Given the description of an element on the screen output the (x, y) to click on. 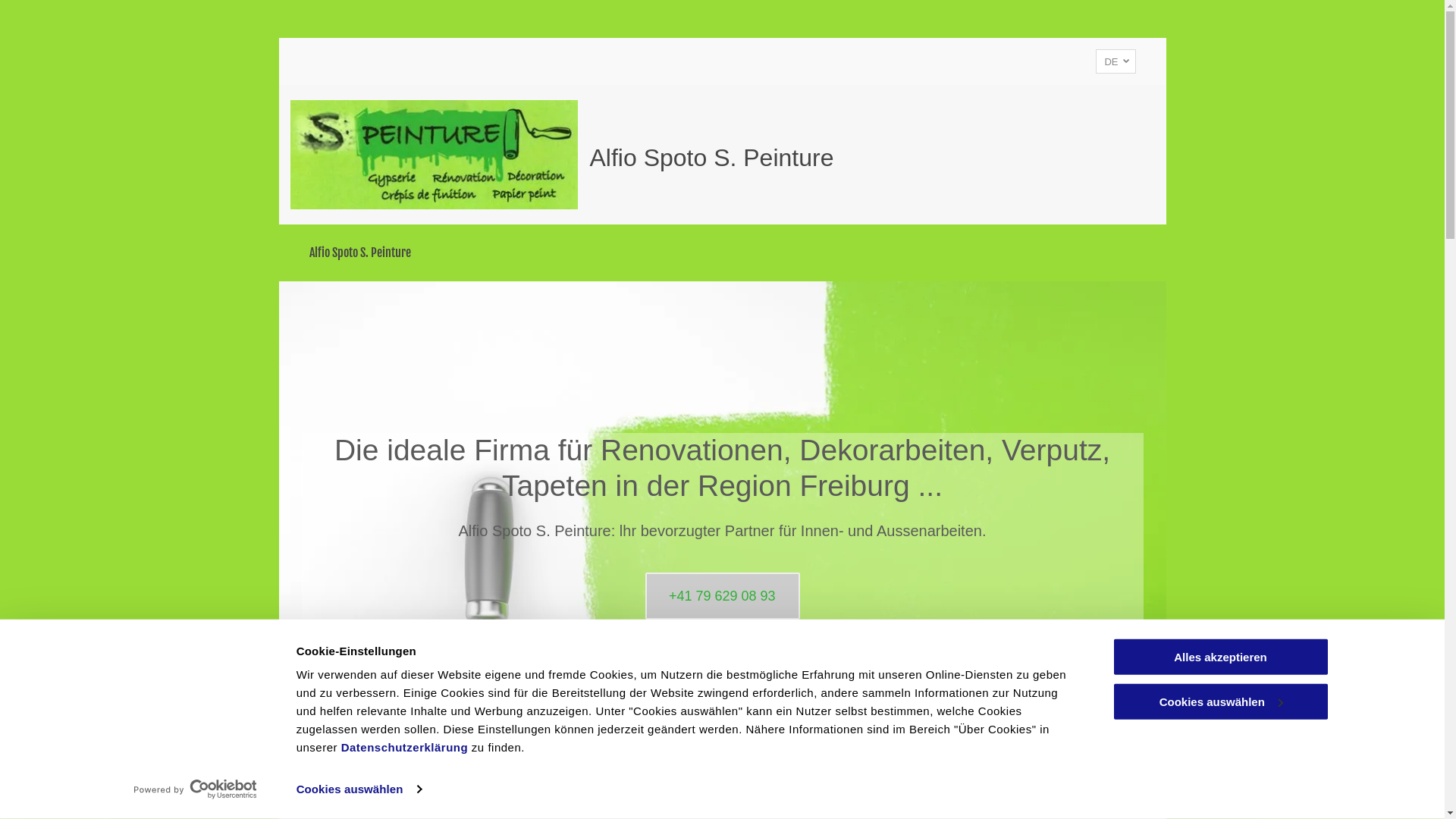
DE Element type: text (1115, 61)
Alfio Spoto S. Peinture Element type: text (360, 252)
Alles akzeptieren Element type: text (1219, 656)
+41 79 629 08 93 Element type: text (721, 595)
